Given the description of an element on the screen output the (x, y) to click on. 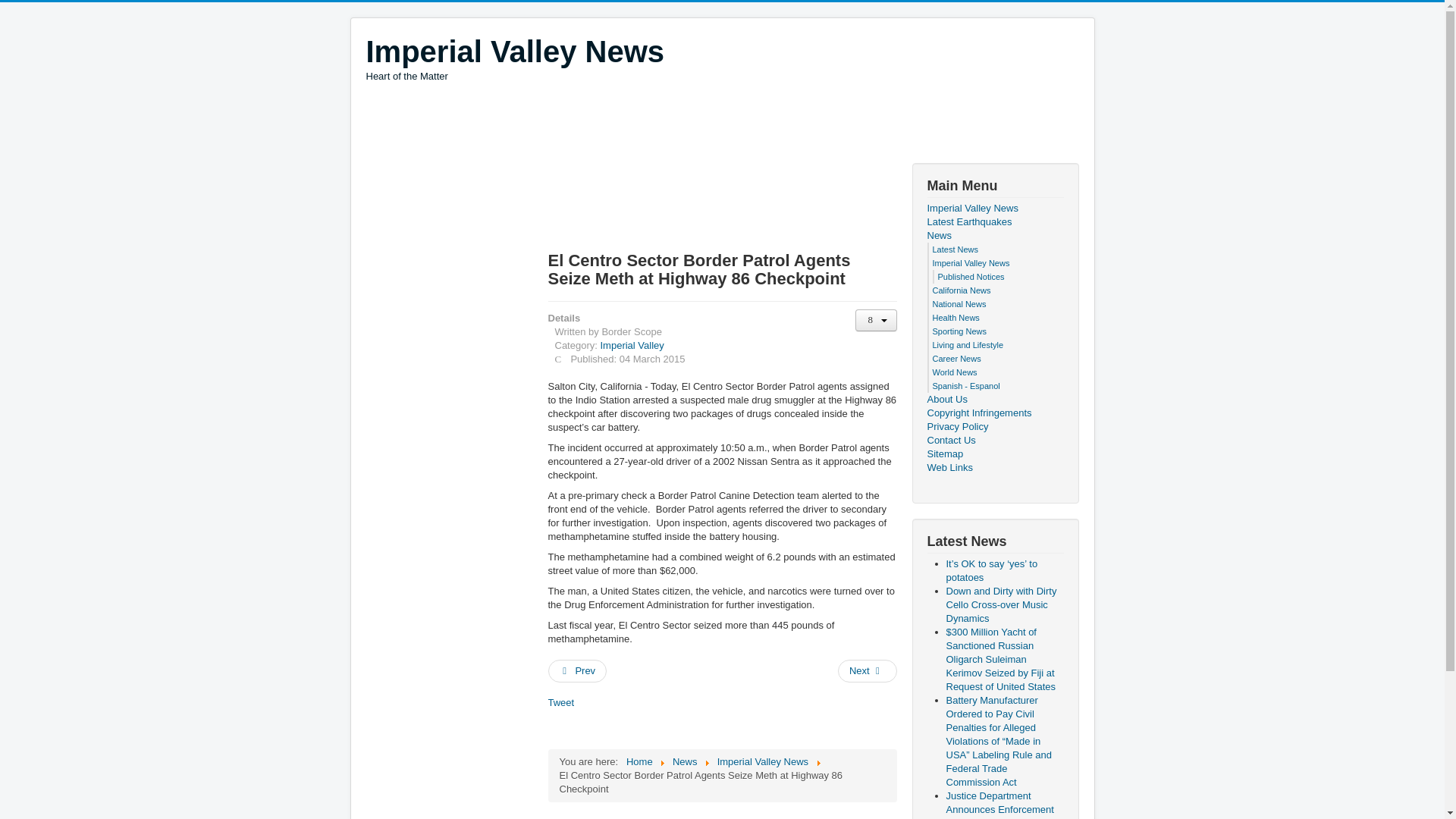
Advertisement (425, 390)
Imperial Valley News (971, 262)
About Us (994, 399)
Privacy Policy (994, 427)
Health News (956, 317)
Imperial Valley News (514, 51)
California News (962, 289)
Imperial Valley News (514, 58)
Imperial Valley (762, 761)
Tweet (631, 345)
Copyright Infringements (560, 702)
Prev (994, 413)
Next (577, 671)
Down and Dirty with Dirty Cello Cross-over Music Dynamics (867, 671)
